Given the description of an element on the screen output the (x, y) to click on. 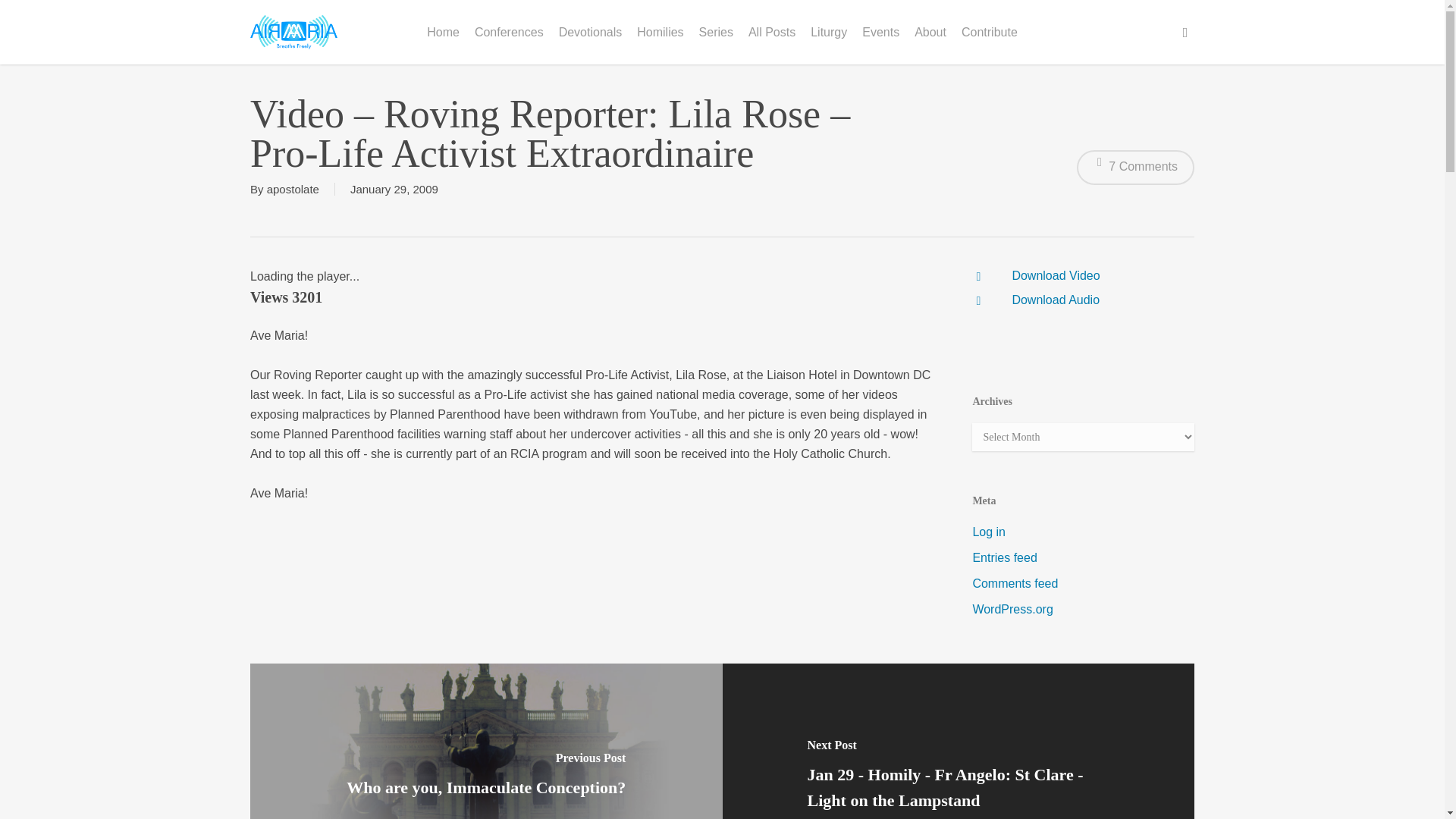
Homilies (659, 31)
WordPress.org (1082, 609)
Contribute (989, 31)
Comments feed (1082, 583)
Conferences (509, 31)
Download Audio (1055, 299)
All Posts (772, 31)
Home (443, 31)
7 Comments (1135, 167)
Log in (1082, 532)
Click to download audio (1055, 299)
search (1184, 31)
Series (716, 31)
Click to download video (1055, 275)
Entries feed (1082, 557)
